Given the description of an element on the screen output the (x, y) to click on. 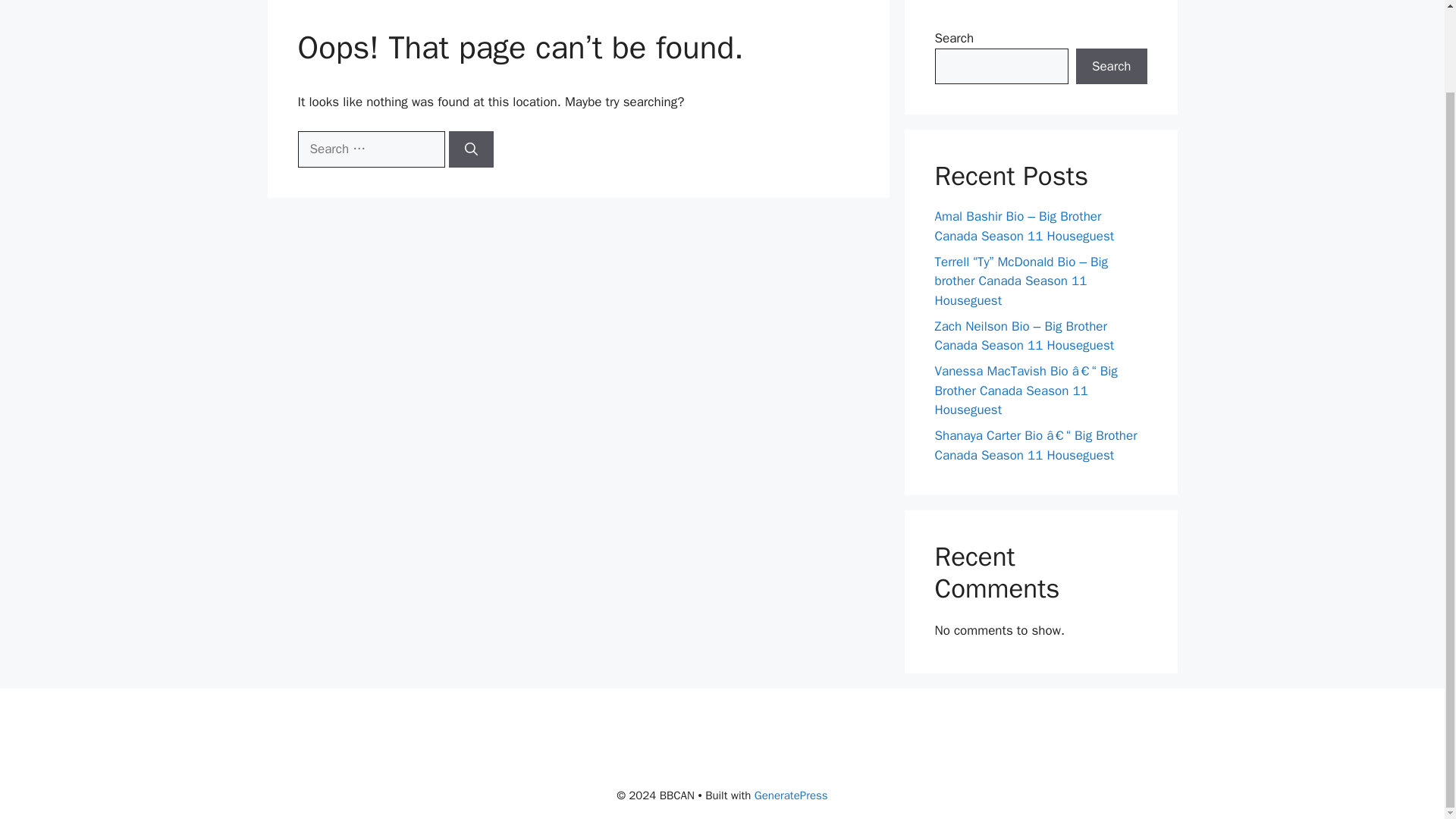
Search for: (370, 149)
GeneratePress (791, 795)
Search (1111, 66)
